Given the description of an element on the screen output the (x, y) to click on. 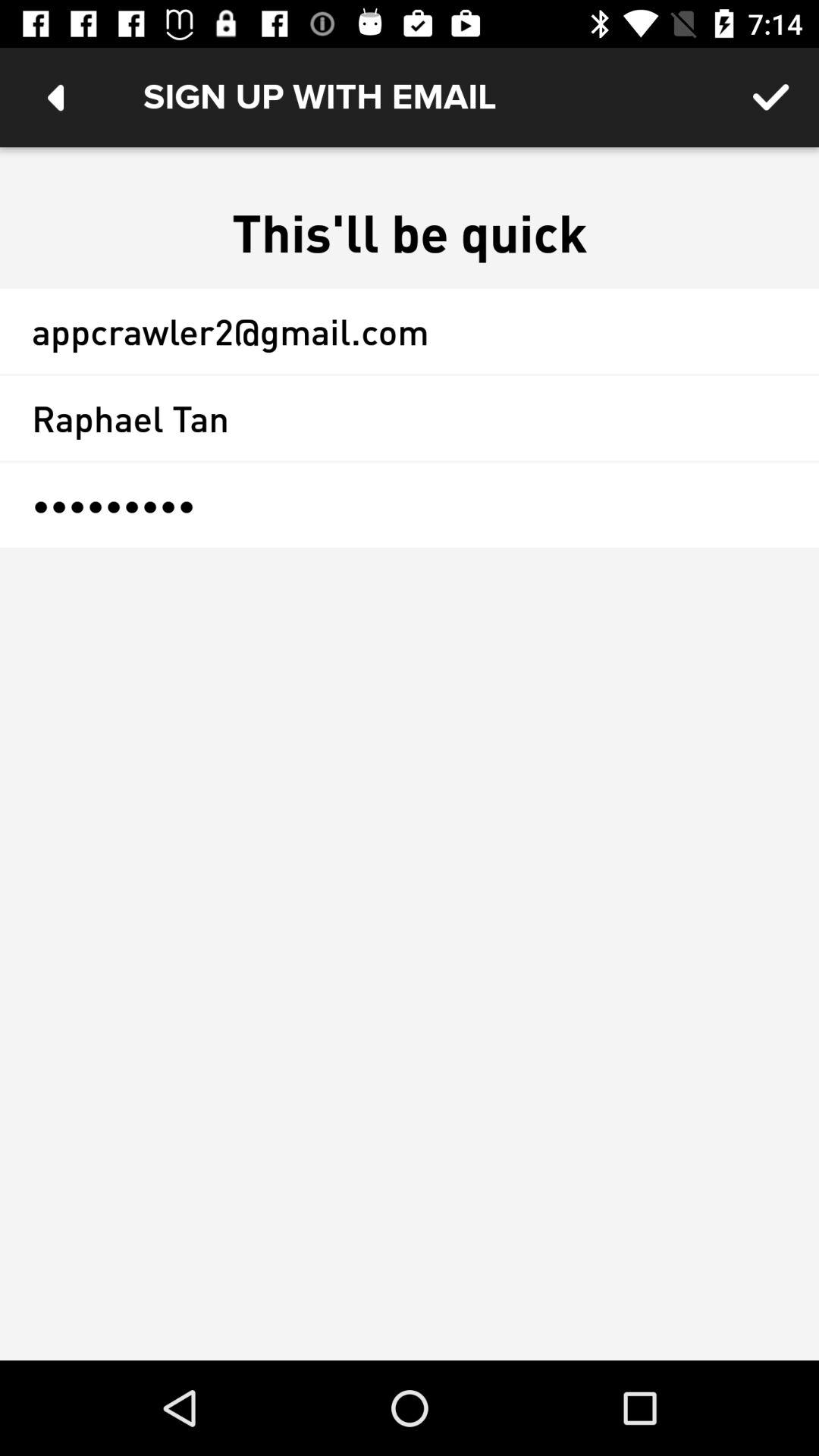
press the icon at the top left corner (55, 97)
